Given the description of an element on the screen output the (x, y) to click on. 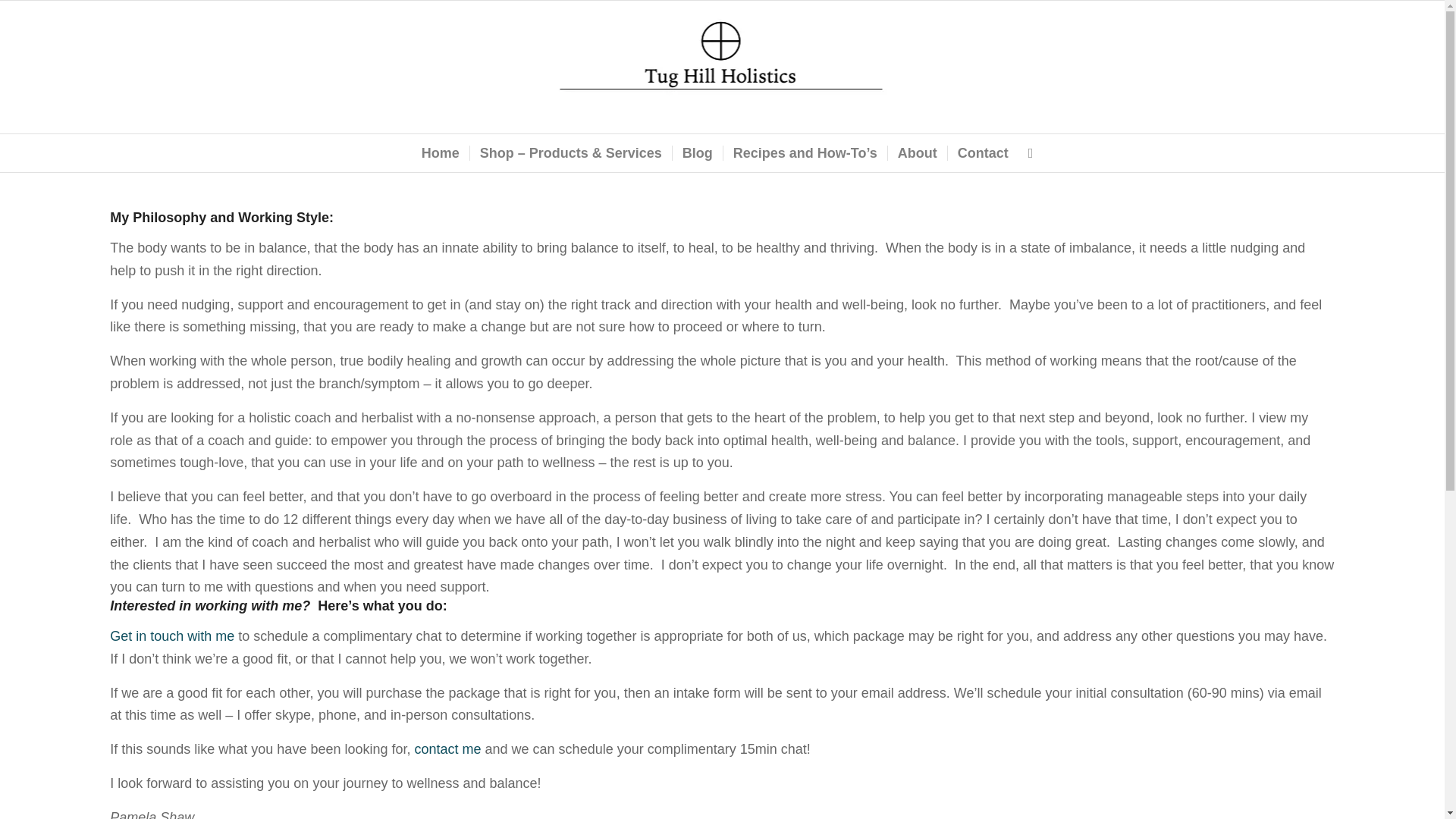
Contact (446, 749)
Blog (696, 152)
About (916, 152)
contact me (446, 749)
Screen Shot 2021-03-30 at 10.17.48 AM (721, 53)
Screen Shot 2021-03-30 at 10.17.48 AM (721, 66)
Home (440, 152)
Contact (982, 152)
Get in touch with me (174, 635)
Contact (174, 635)
